Given the description of an element on the screen output the (x, y) to click on. 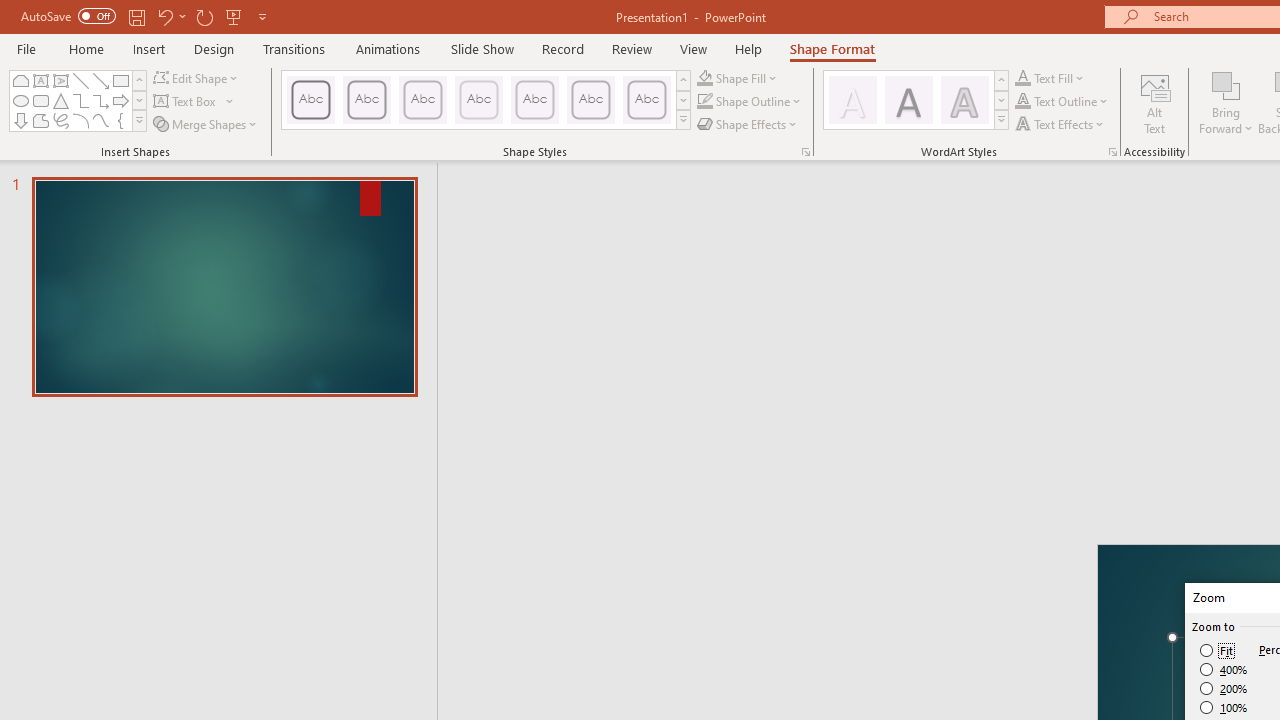
Merge Shapes (206, 124)
Colored Outline - Black, Dark 1 (310, 100)
AutomationID: TextStylesGallery (916, 99)
Text Fill (1050, 78)
Bring Forward (1225, 102)
Bring Forward (1225, 84)
